Given the description of an element on the screen output the (x, y) to click on. 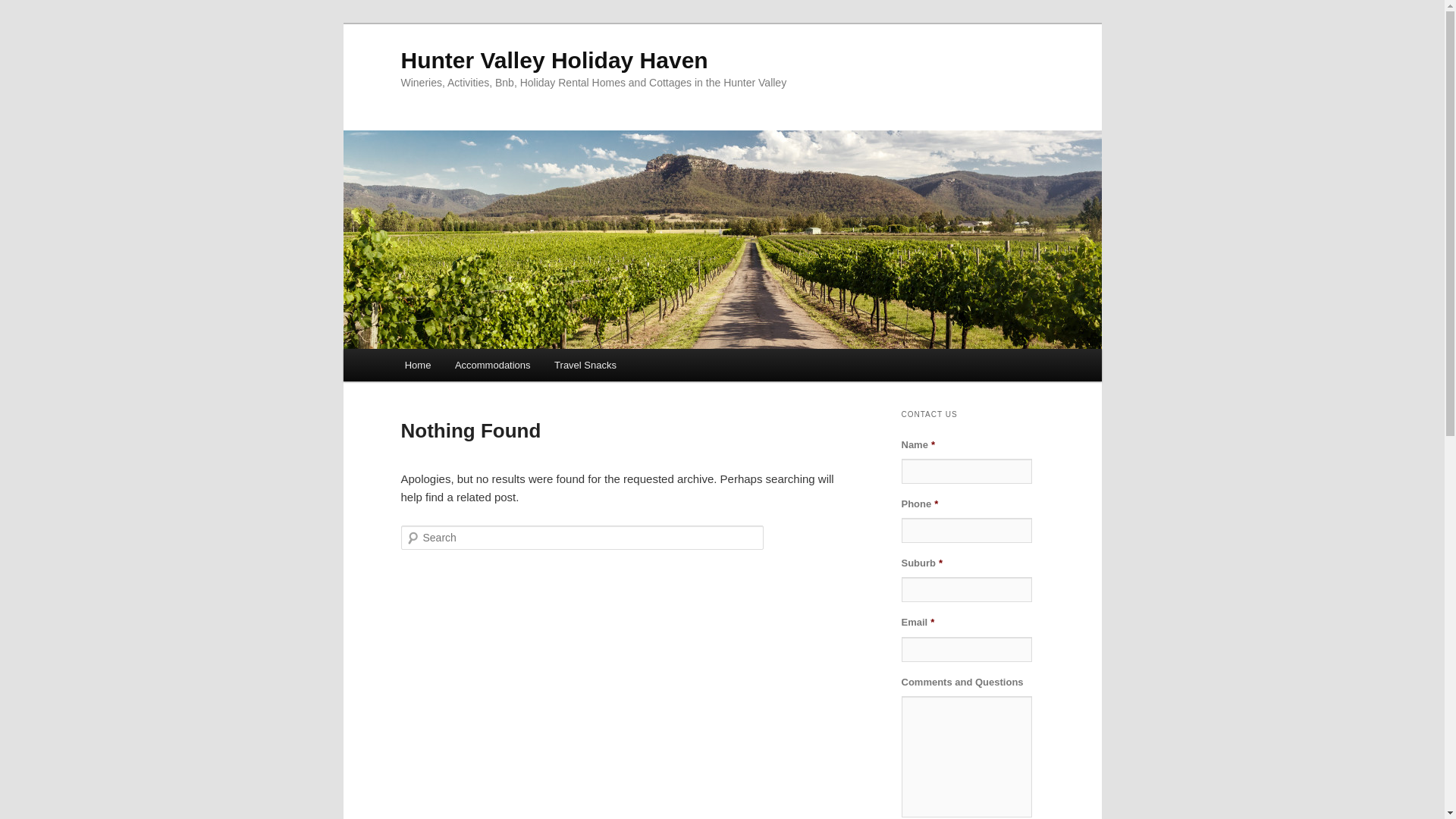
Skip to primary content Element type: text (414, 348)
Home Element type: text (417, 364)
Hunter Valley Holiday Haven Element type: text (553, 59)
Accommodations Element type: text (492, 364)
Search Element type: text (24, 8)
Travel Snacks Element type: text (584, 364)
